Given the description of an element on the screen output the (x, y) to click on. 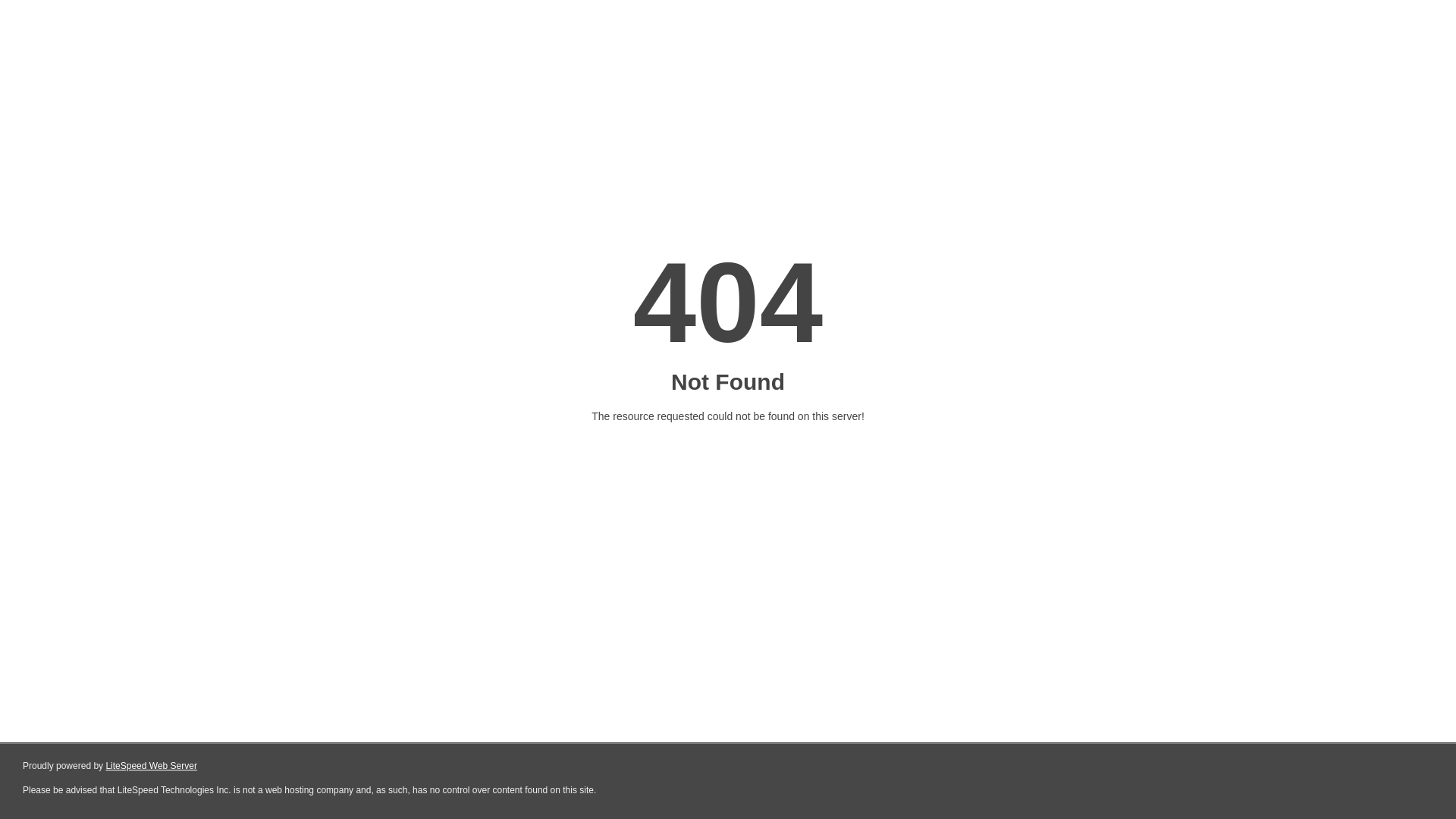
LiteSpeed Web Server Element type: text (151, 765)
